Given the description of an element on the screen output the (x, y) to click on. 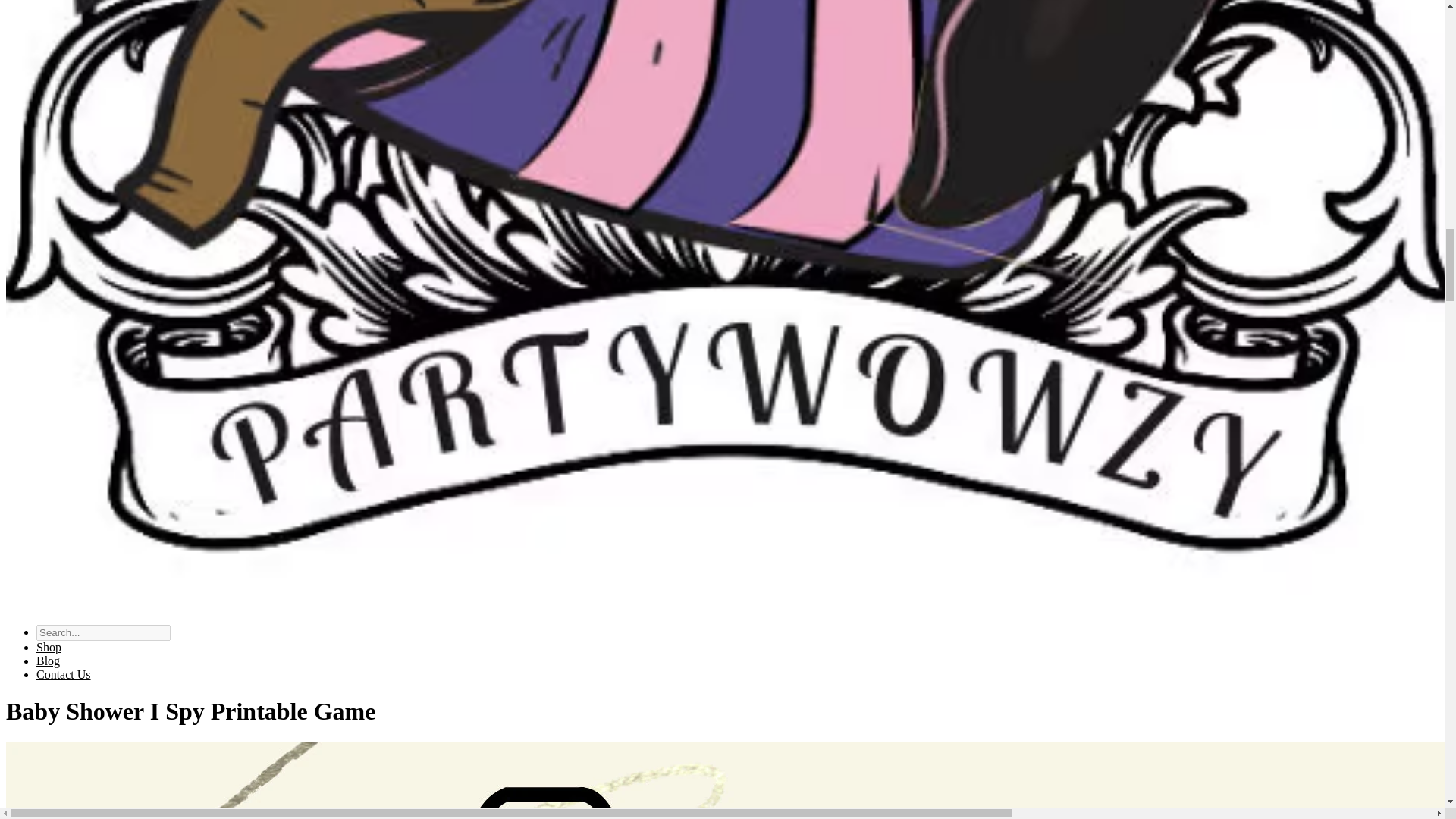
Contact Us (63, 674)
Blog (47, 660)
Shop (48, 646)
